Given the description of an element on the screen output the (x, y) to click on. 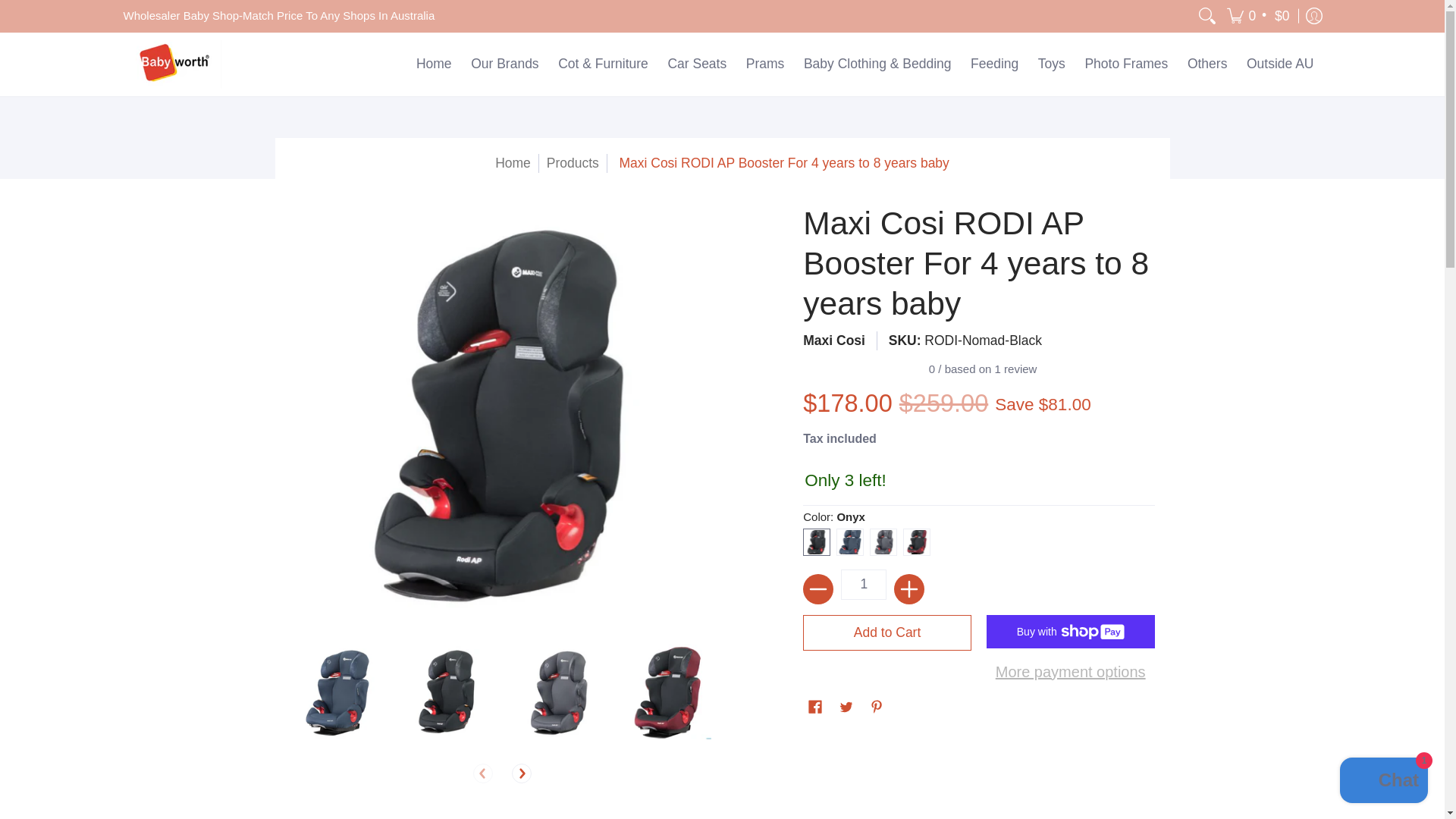
Stone (885, 542)
Onyx (819, 542)
Our Brands (504, 63)
Our Brands (504, 63)
NOMAD BLUE (852, 542)
Cabernet (919, 542)
Log in (1312, 16)
Cart (1259, 16)
Babyworth (171, 63)
1 (863, 584)
